Given the description of an element on the screen output the (x, y) to click on. 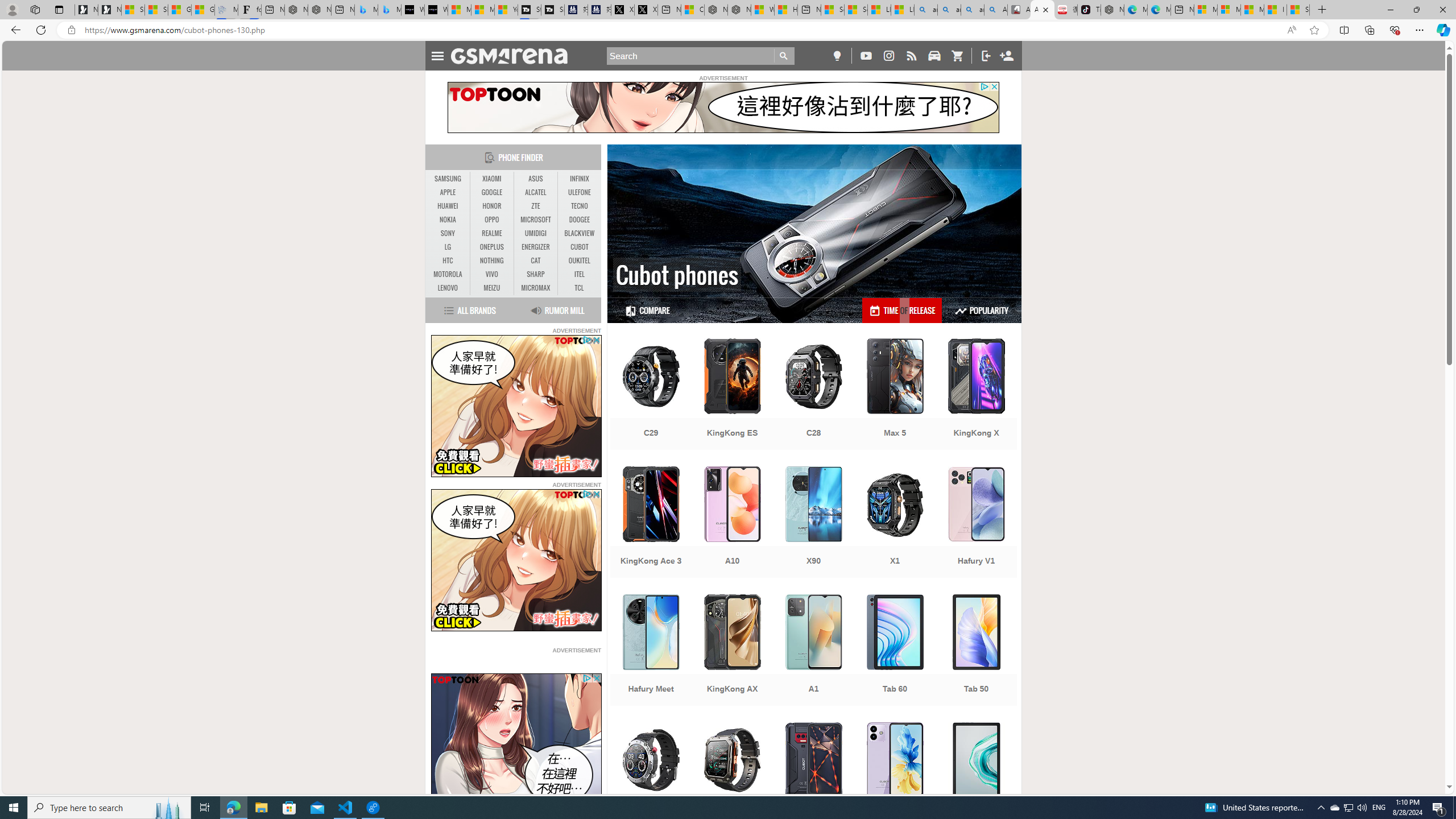
MICROMAX (535, 287)
UMIDIGI (535, 233)
Gilma and Hector both pose tropical trouble for Hawaii (202, 9)
DOOGEE (579, 219)
ITEL (579, 273)
TikTok (1089, 9)
GOOGLE (491, 192)
TCL (579, 287)
